Given the description of an element on the screen output the (x, y) to click on. 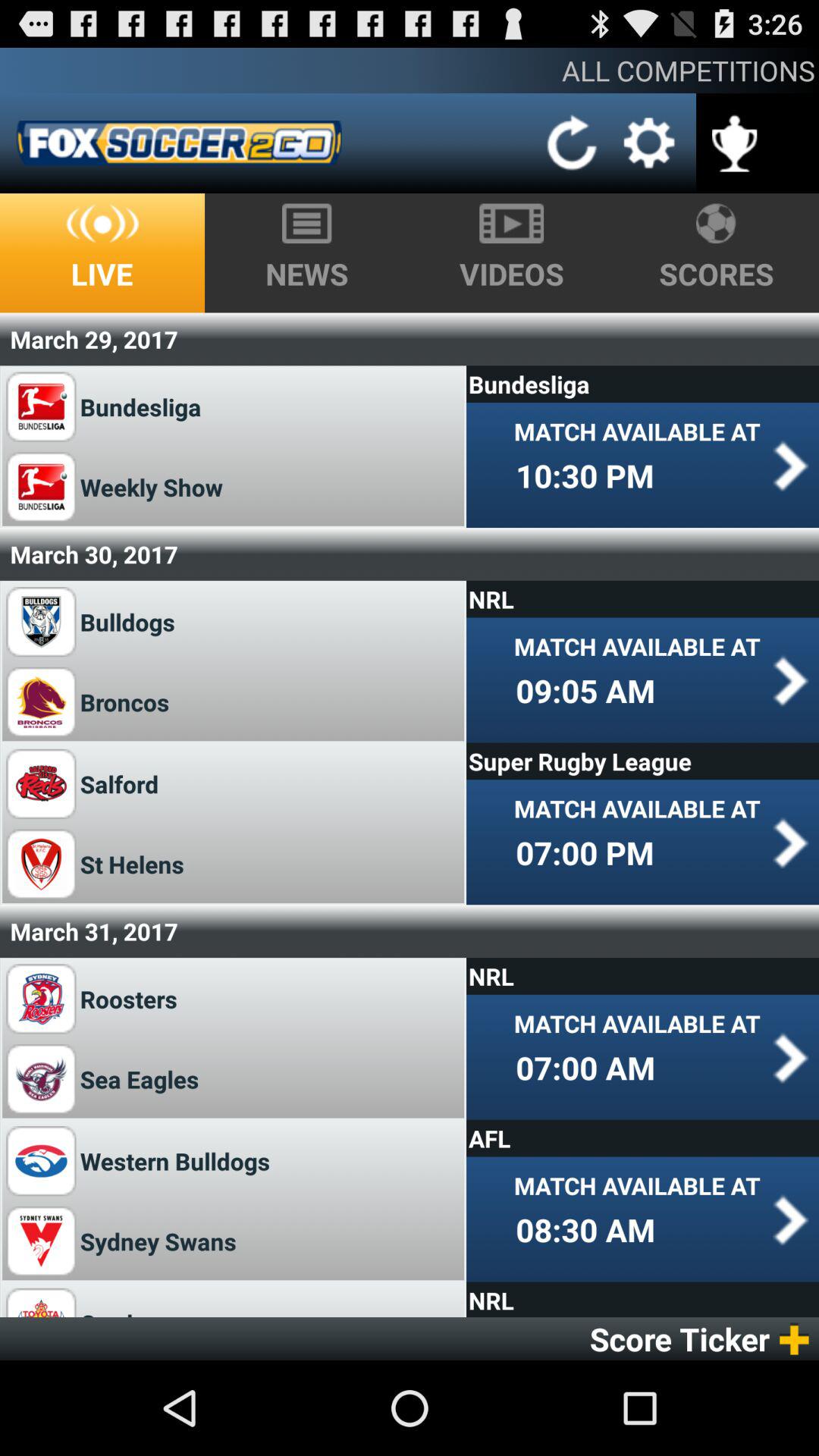
open st helens   item (137, 864)
